Given the description of an element on the screen output the (x, y) to click on. 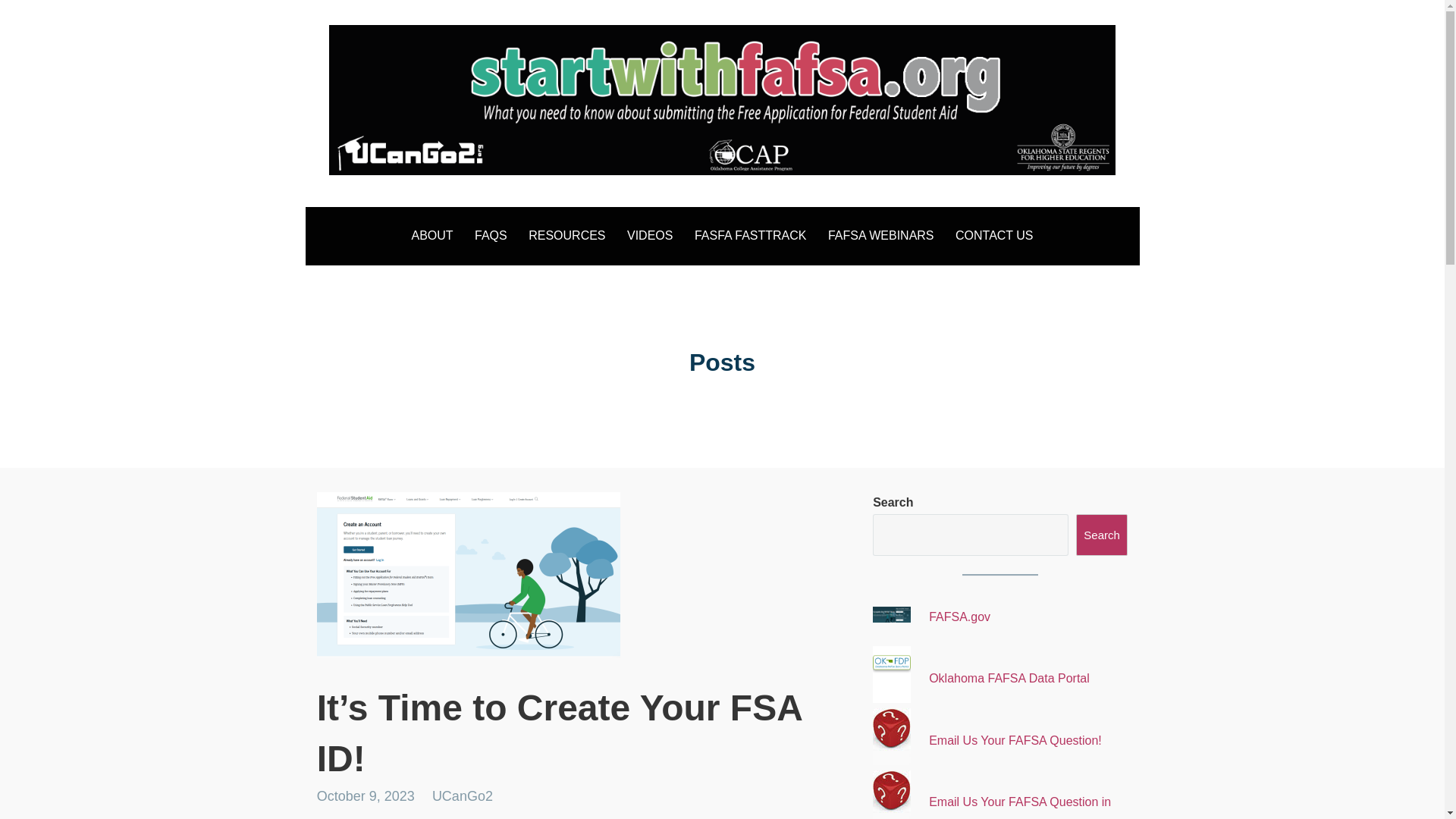
VIDEOS (649, 236)
Posts by UCanGo2 (462, 795)
Email UCanGo2 your FAFSA question in Spanish! (1019, 807)
Email Us Your FAFSA Question! (1015, 739)
FASFA FASTTRACK (750, 236)
FAFSA.gov (959, 616)
RESOURCES (566, 236)
ABOUT (431, 236)
Email Us Your FAFSA Question in Spanish! (1019, 807)
FAFSA WEBINARS (880, 236)
